Given the description of an element on the screen output the (x, y) to click on. 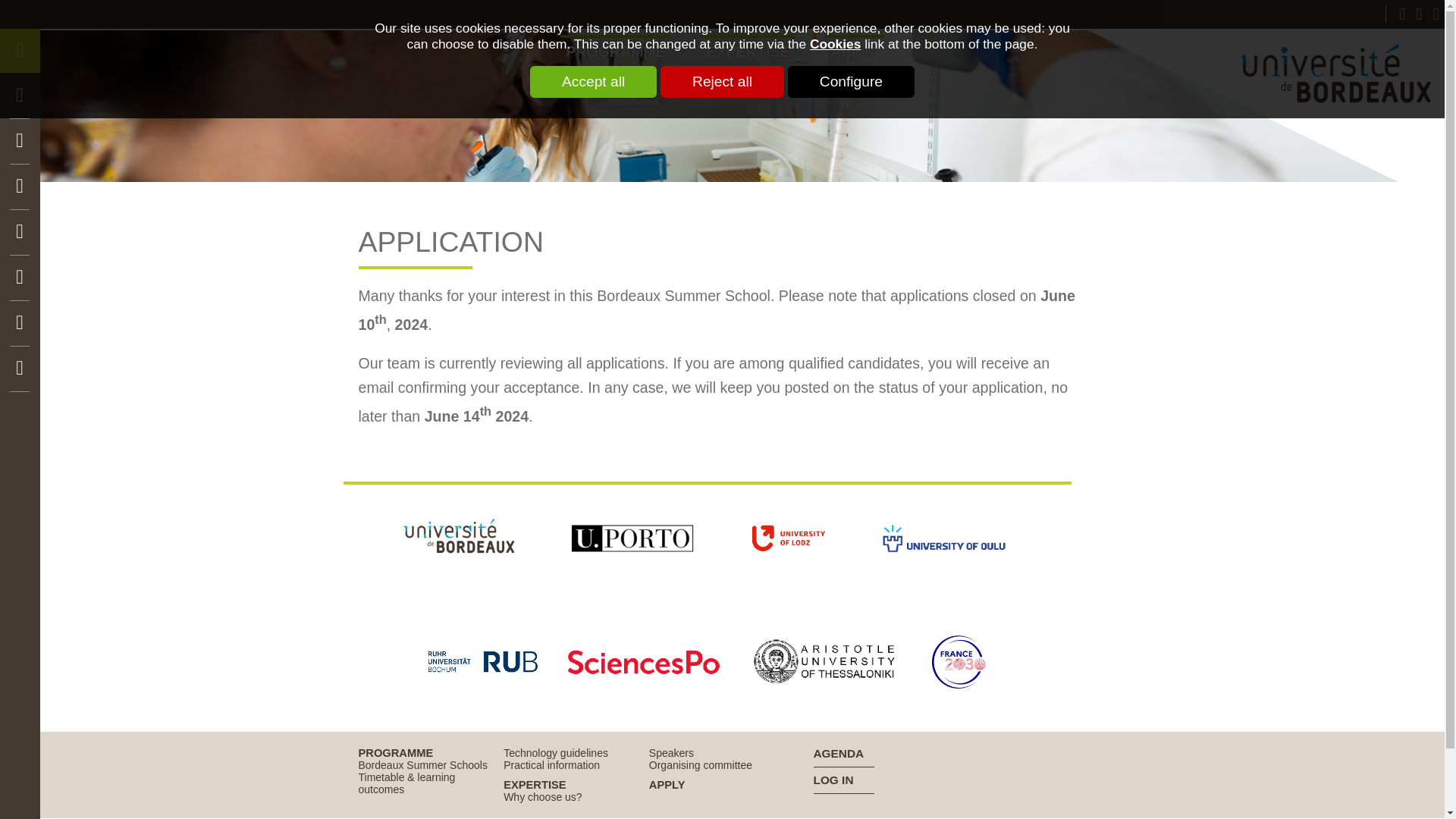
Expertise (534, 784)
Restore original font size (1418, 14)
APPLY NOW! (20, 243)
Bordeaux Summer Schools (422, 765)
Why choose us? (542, 797)
EXPERTISE (747, 51)
SEARCH (15, 161)
Cookies (834, 43)
Configure (850, 81)
Why choose us? (542, 797)
Decrease font size (1401, 14)
Practical information (551, 765)
CONNEXION (20, 197)
LOG IN (949, 783)
Accept all (592, 81)
